Given the description of an element on the screen output the (x, y) to click on. 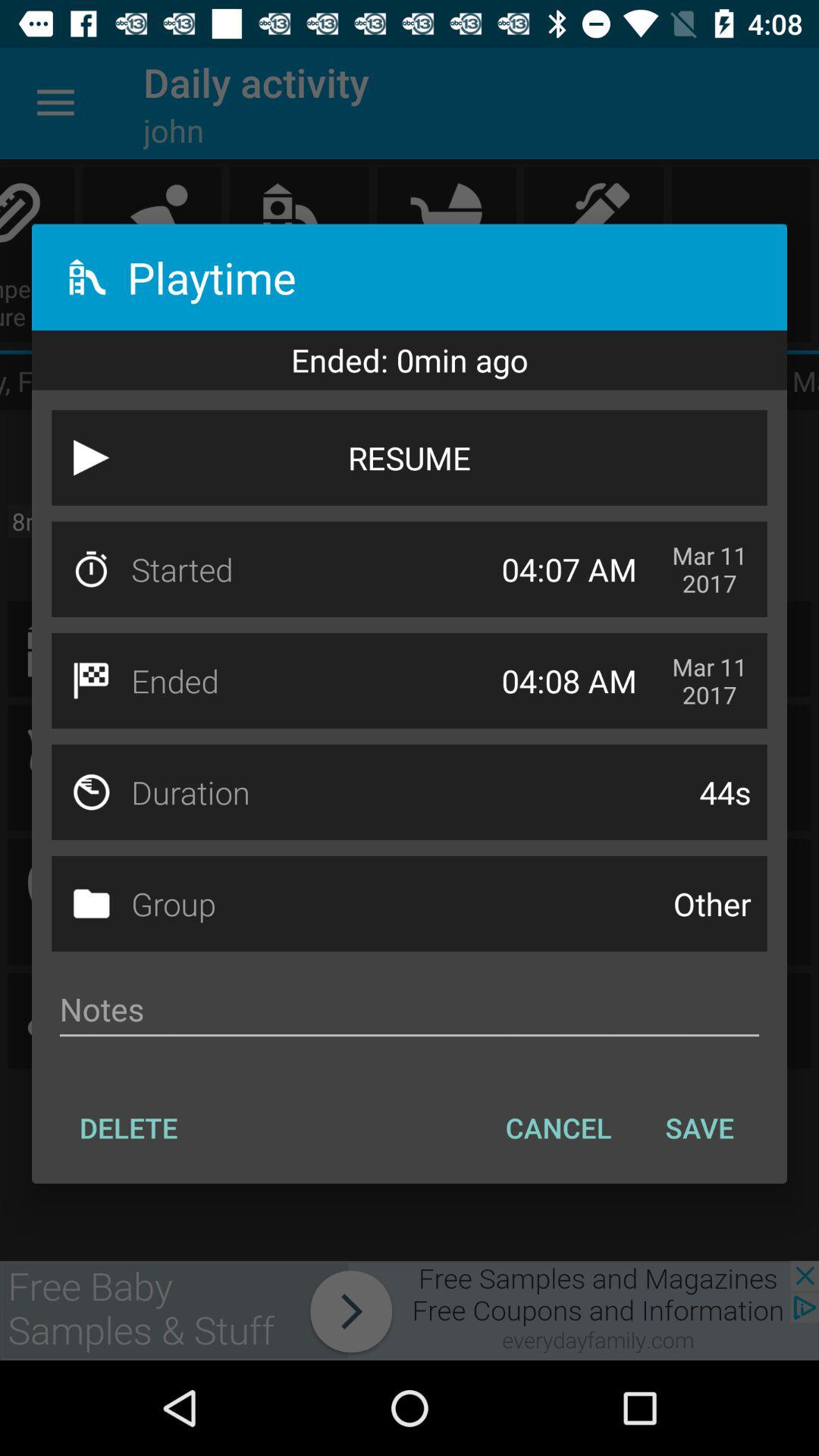
click item to the left of cancel item (128, 1127)
